Given the description of an element on the screen output the (x, y) to click on. 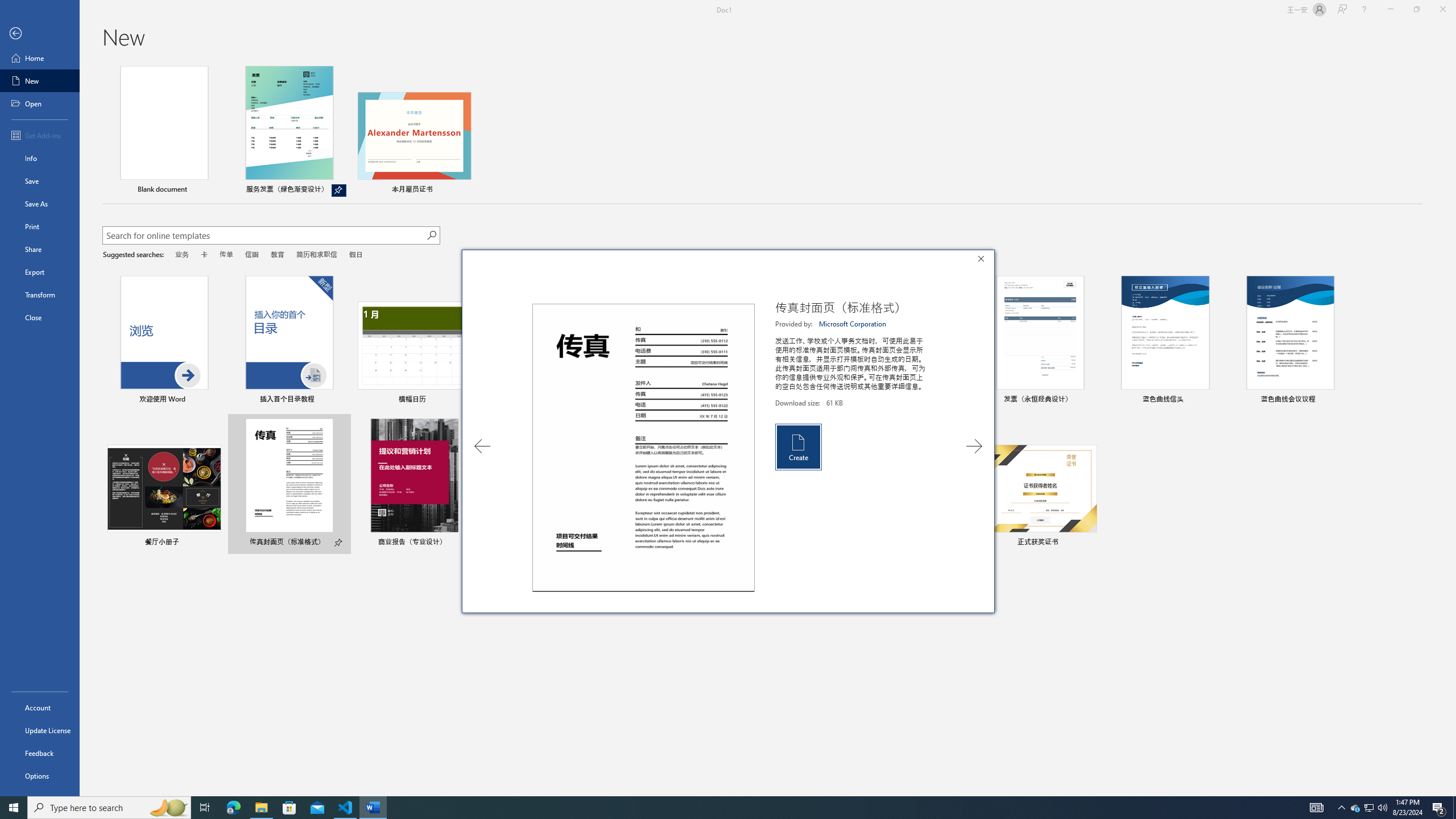
Account (40, 707)
Create (797, 446)
Transform (40, 294)
Update License (40, 730)
Options (40, 775)
Microsoft Edge (233, 807)
